Given the description of an element on the screen output the (x, y) to click on. 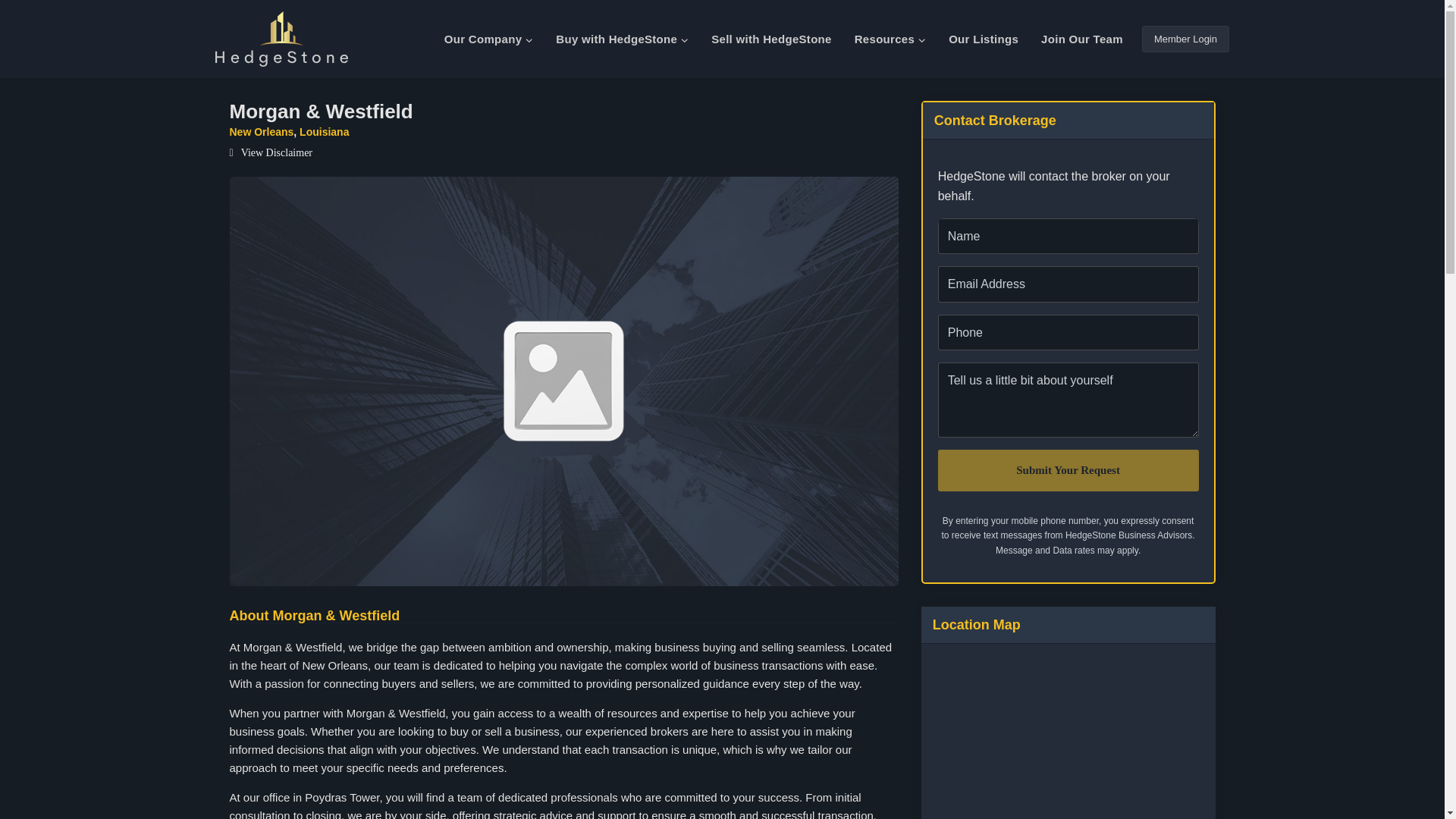
Our Company (488, 38)
Sell with HedgeStone (771, 38)
Buy with HedgeStone (622, 38)
Join Our Team (1081, 38)
Our Listings (983, 38)
View Disclaimer (270, 152)
Louisiana (324, 132)
Member Login (1184, 38)
New Orleans (261, 132)
Resources (890, 38)
Submit Your Request (1067, 470)
